Given the description of an element on the screen output the (x, y) to click on. 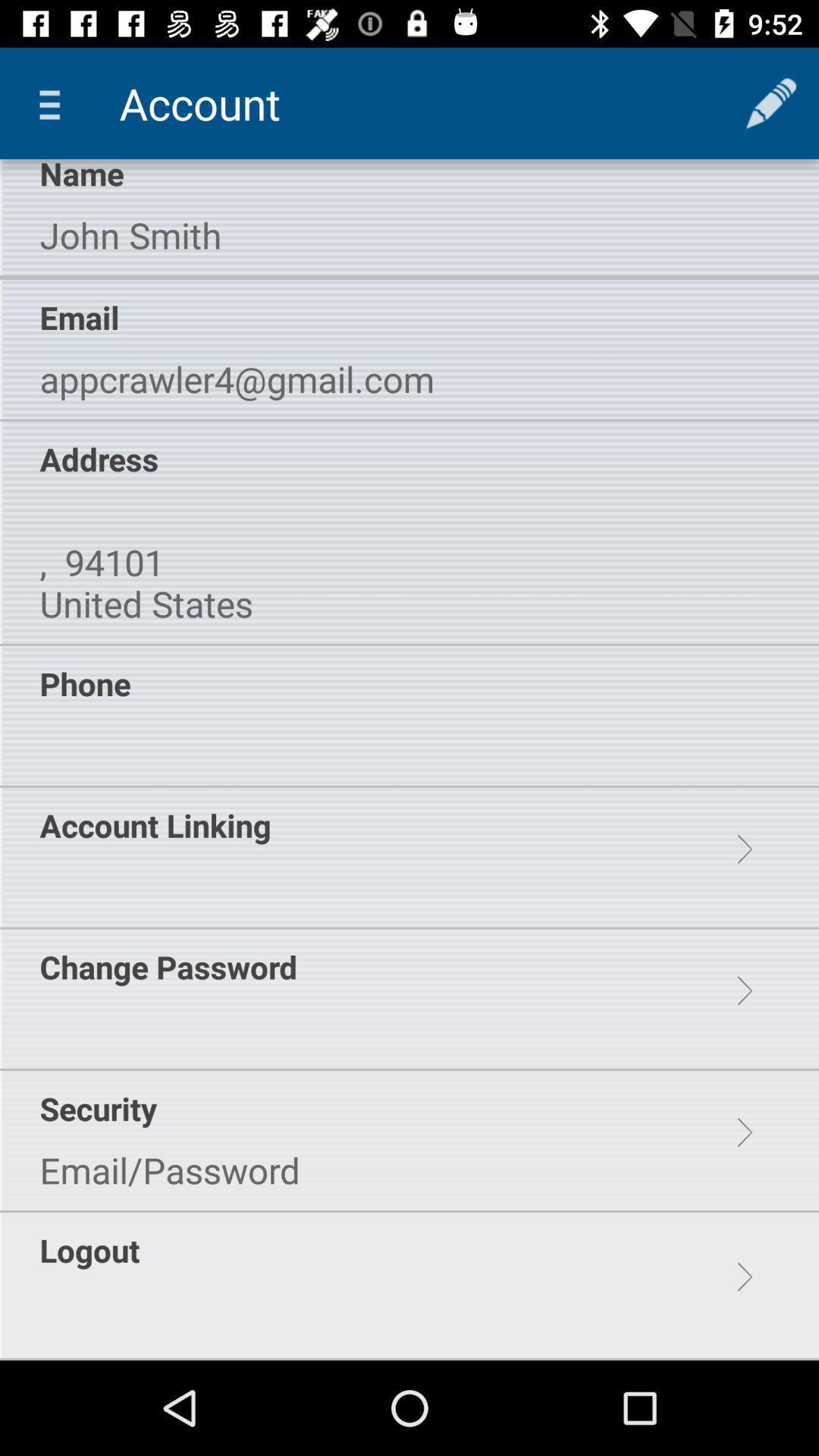
click item to the left of account item (55, 103)
